Given the description of an element on the screen output the (x, y) to click on. 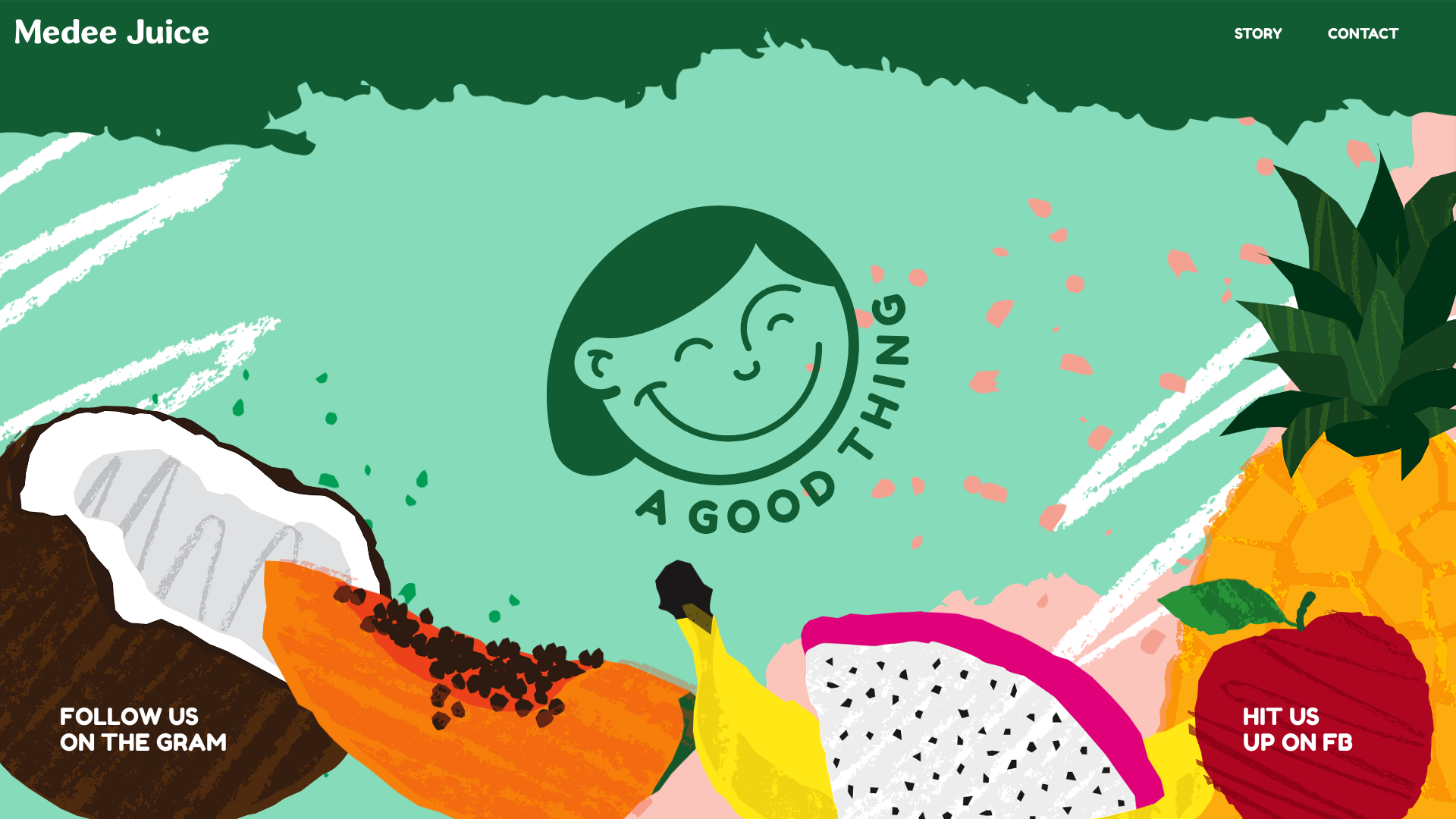
HIT US
UP ON FB Element type: text (1297, 729)
STORY Element type: text (1258, 33)
CONTACT Element type: text (1363, 33)
FOLLOW US
ON THE GRAM Element type: text (142, 729)
